Given the description of an element on the screen output the (x, y) to click on. 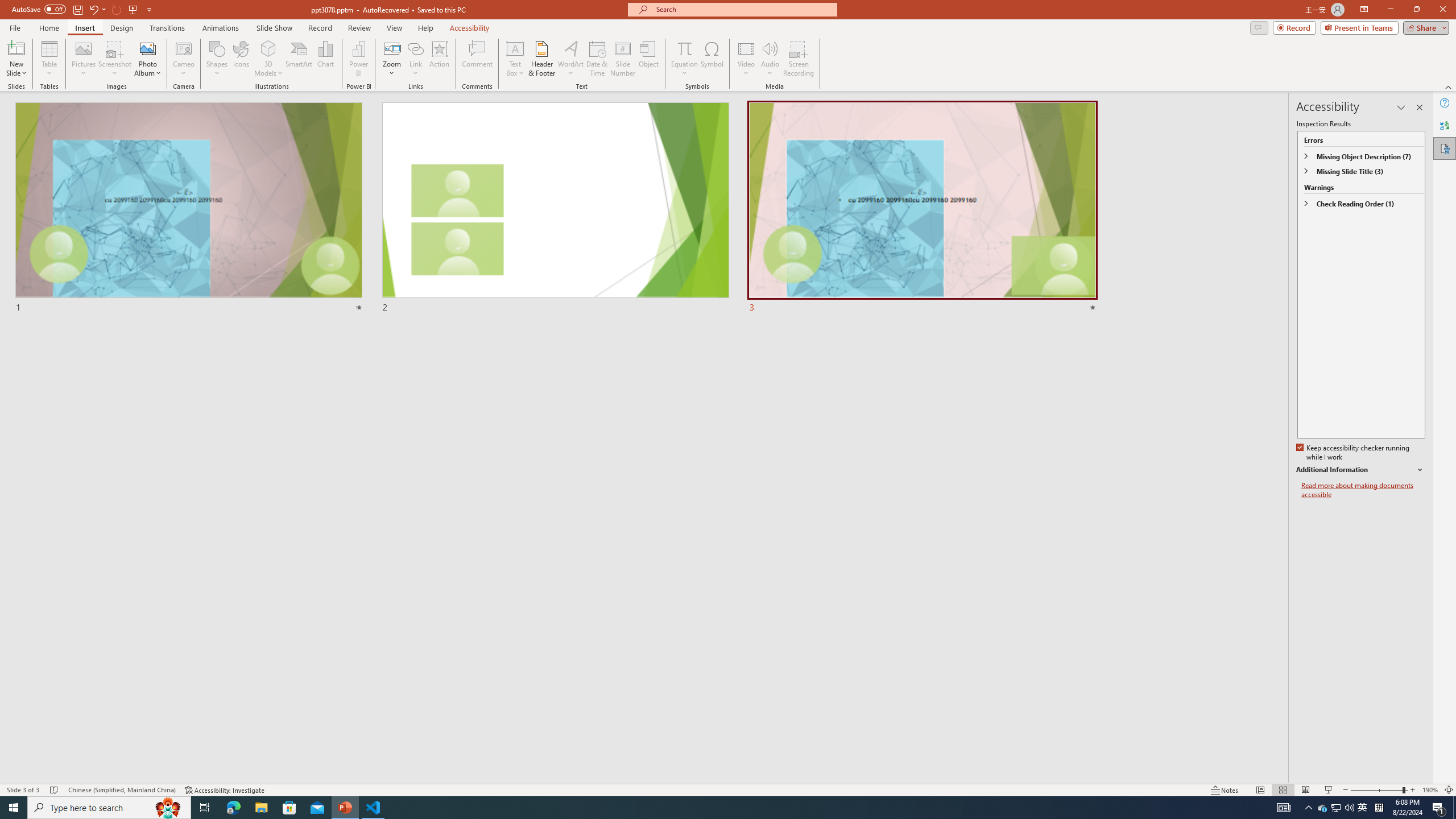
Additional Information (1360, 469)
Power BI (358, 58)
Keep accessibility checker running while I work (1353, 452)
Photo Album... (147, 58)
Link (415, 58)
Slide Number (622, 58)
WordArt (570, 58)
